Given the description of an element on the screen output the (x, y) to click on. 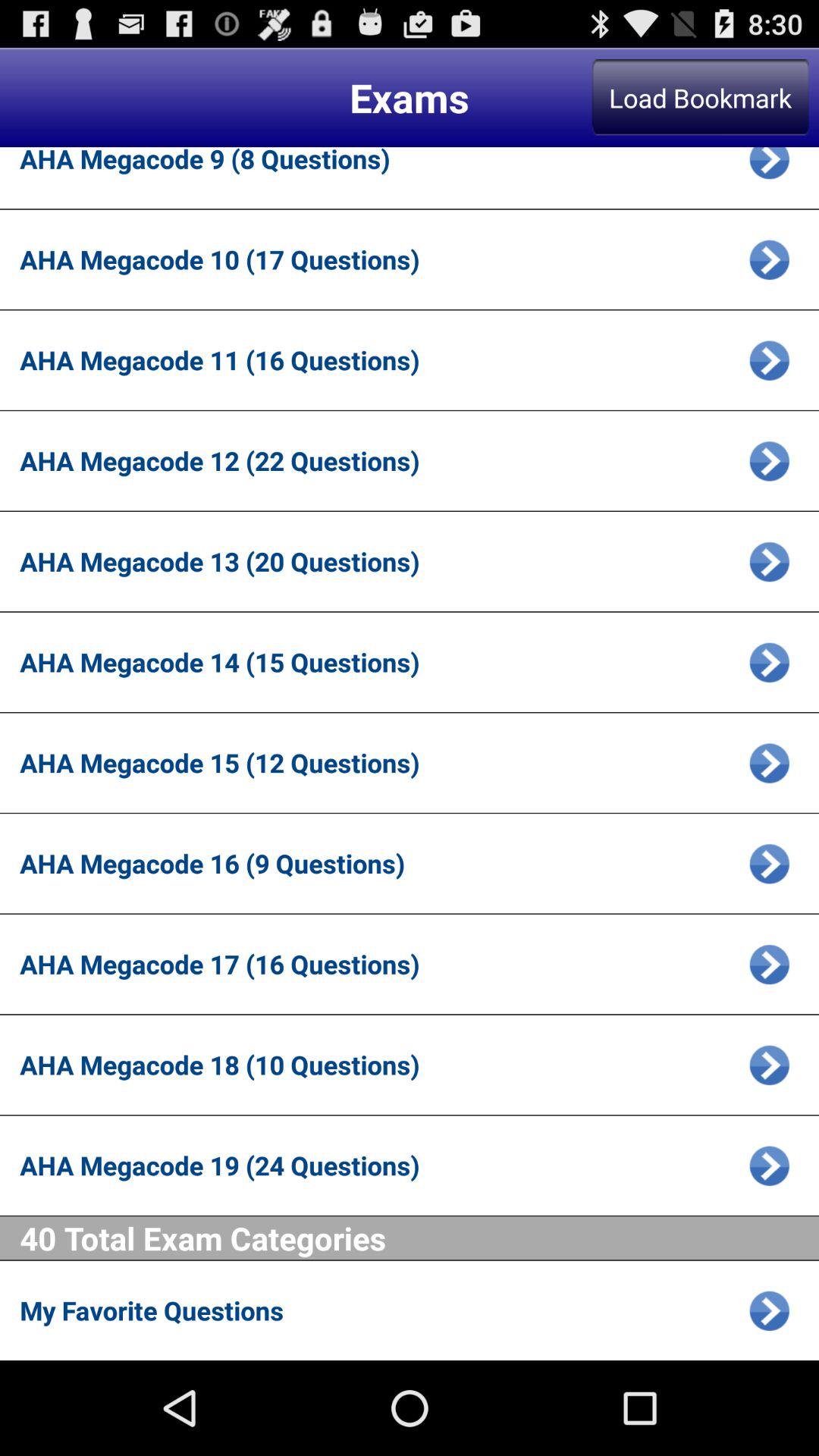
select button (769, 863)
